Given the description of an element on the screen output the (x, y) to click on. 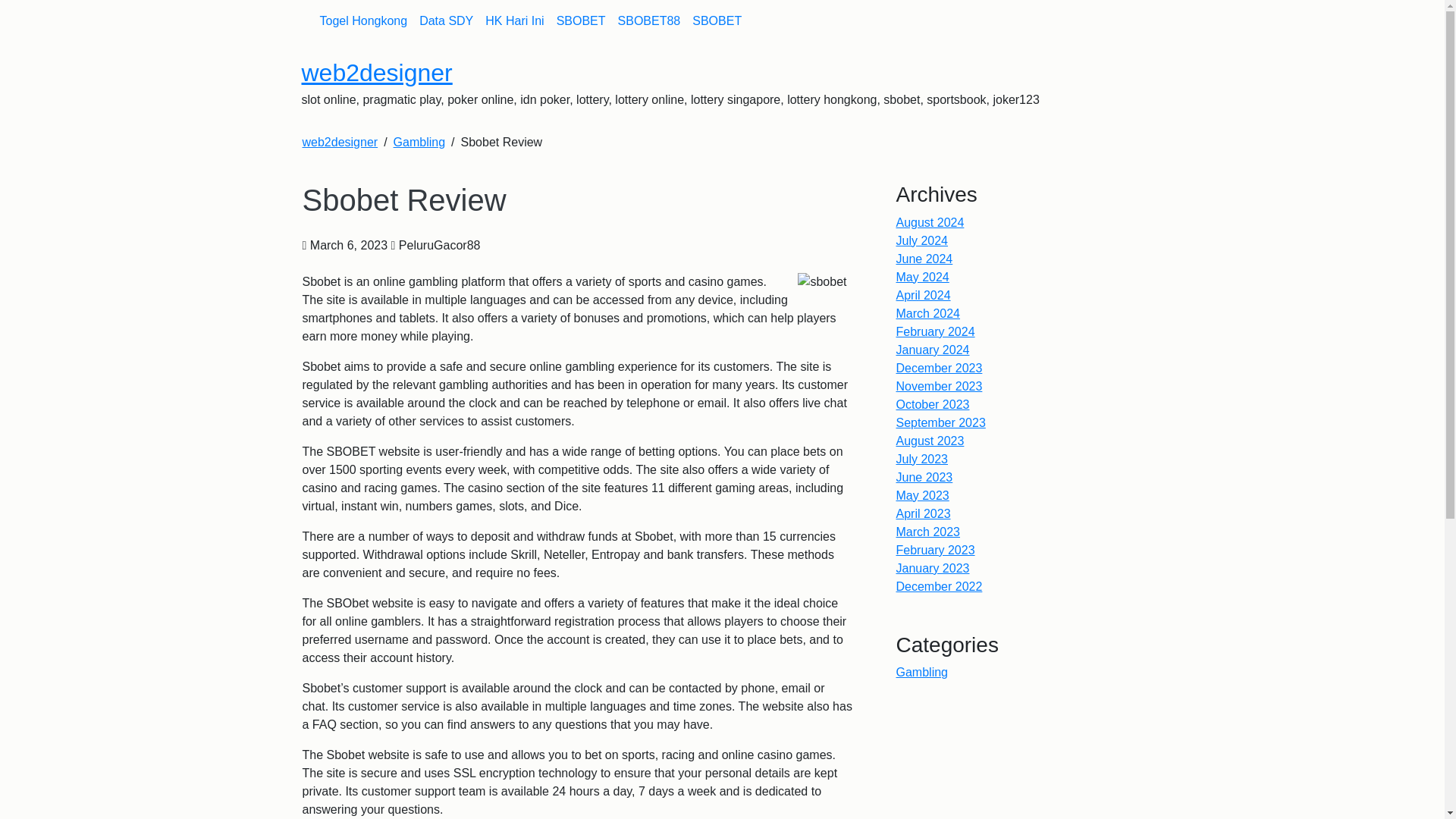
HK Hari Ini (514, 20)
SBOBET (580, 20)
HK Hari Ini (514, 20)
August 2023 (929, 440)
October 2023 (932, 404)
May 2023 (922, 495)
January 2023 (932, 567)
July 2023 (922, 459)
May 2024 (922, 277)
April 2024 (923, 295)
